Given the description of an element on the screen output the (x, y) to click on. 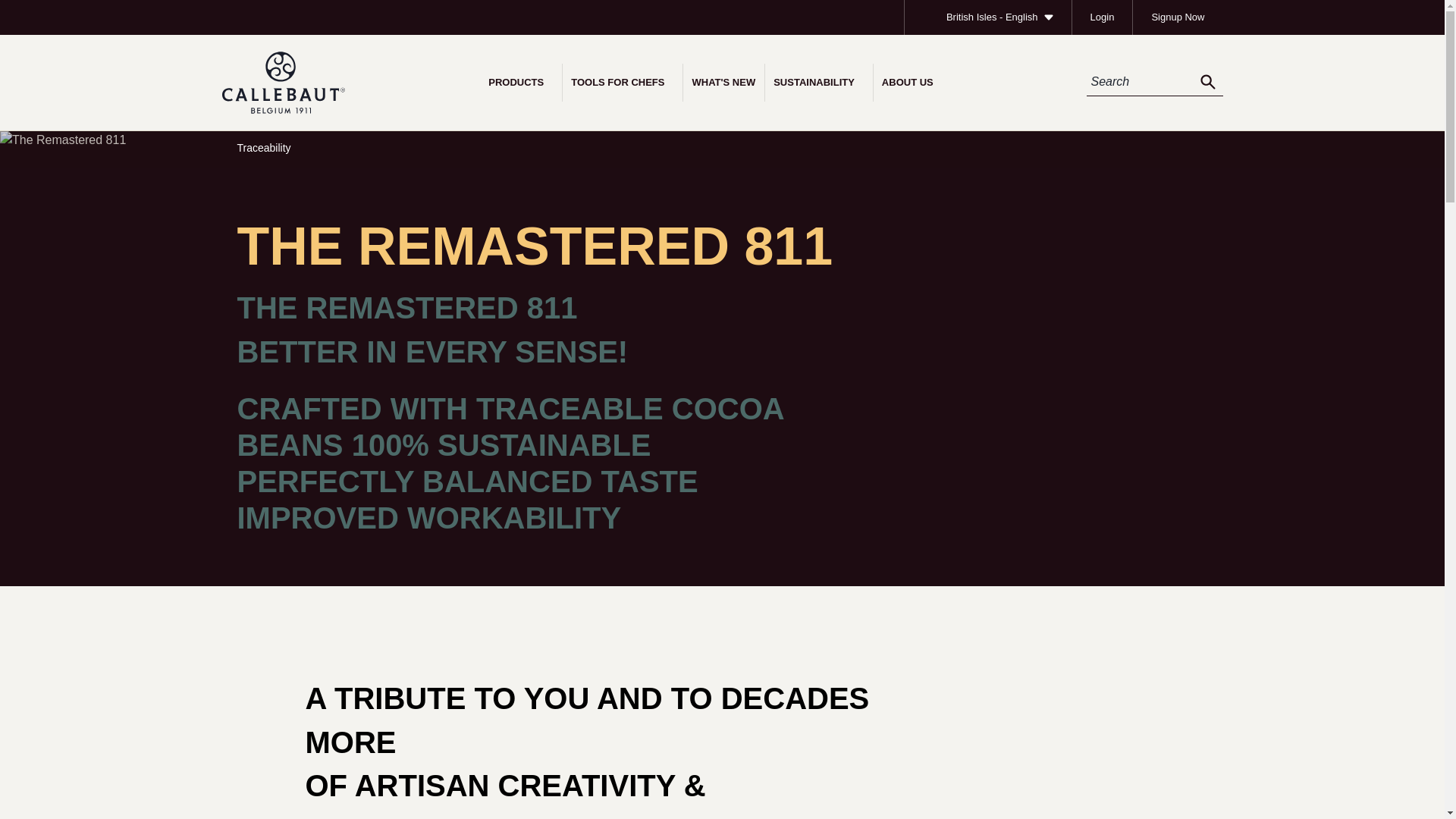
Login (1101, 17)
Signup Now (1177, 17)
Search (1207, 81)
British Isles - English (987, 17)
Skip to main content (16, 9)
Traceability (262, 147)
